Given the description of an element on the screen output the (x, y) to click on. 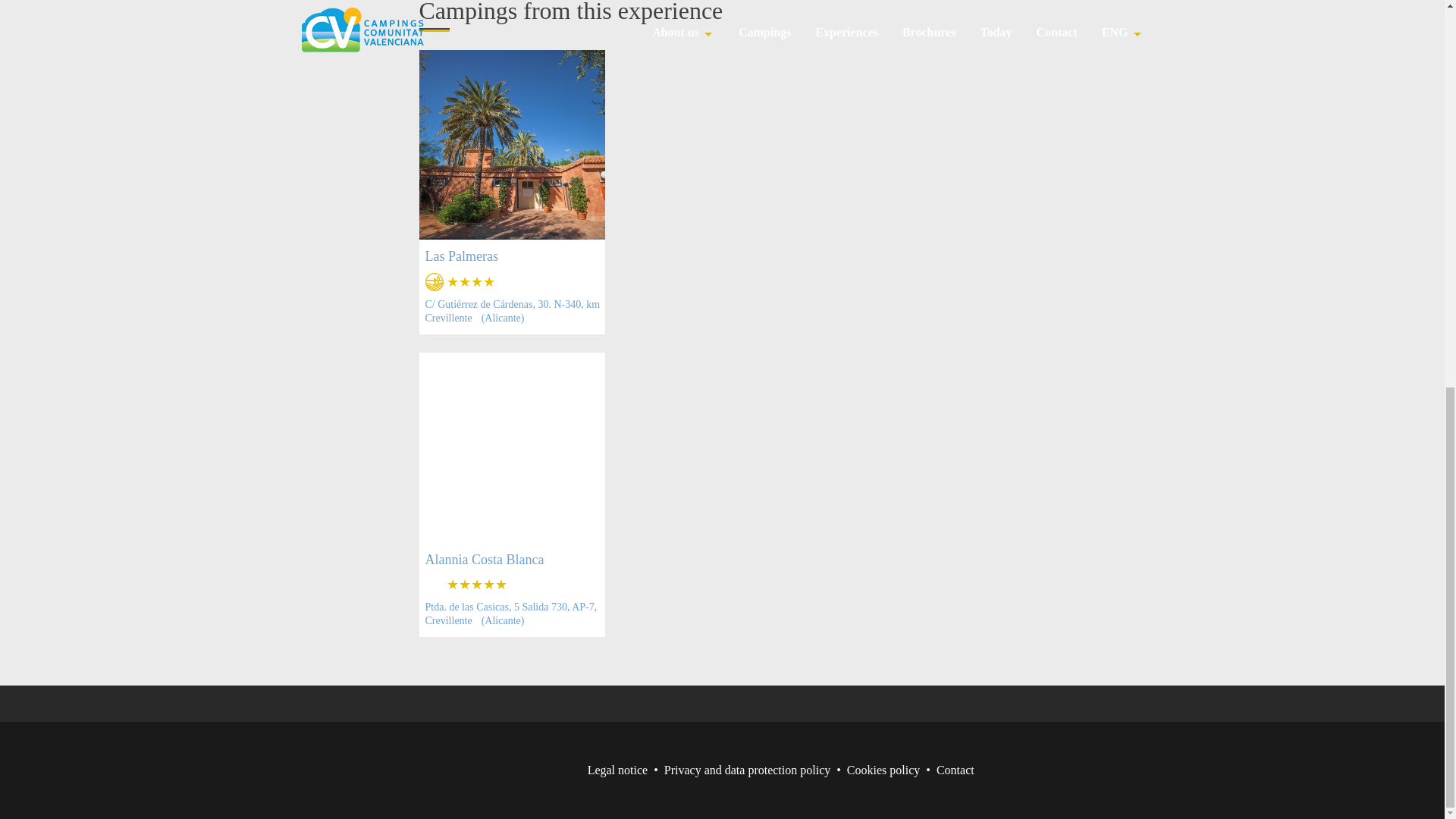
Interior (433, 584)
Instagram (742, 703)
Youtube (785, 703)
Cookies policy (883, 769)
Legal notice (617, 769)
Twitter (700, 703)
Facebook (657, 703)
Interior (433, 281)
Contact (955, 769)
Privacy and data protection policy (746, 769)
